Given the description of an element on the screen output the (x, y) to click on. 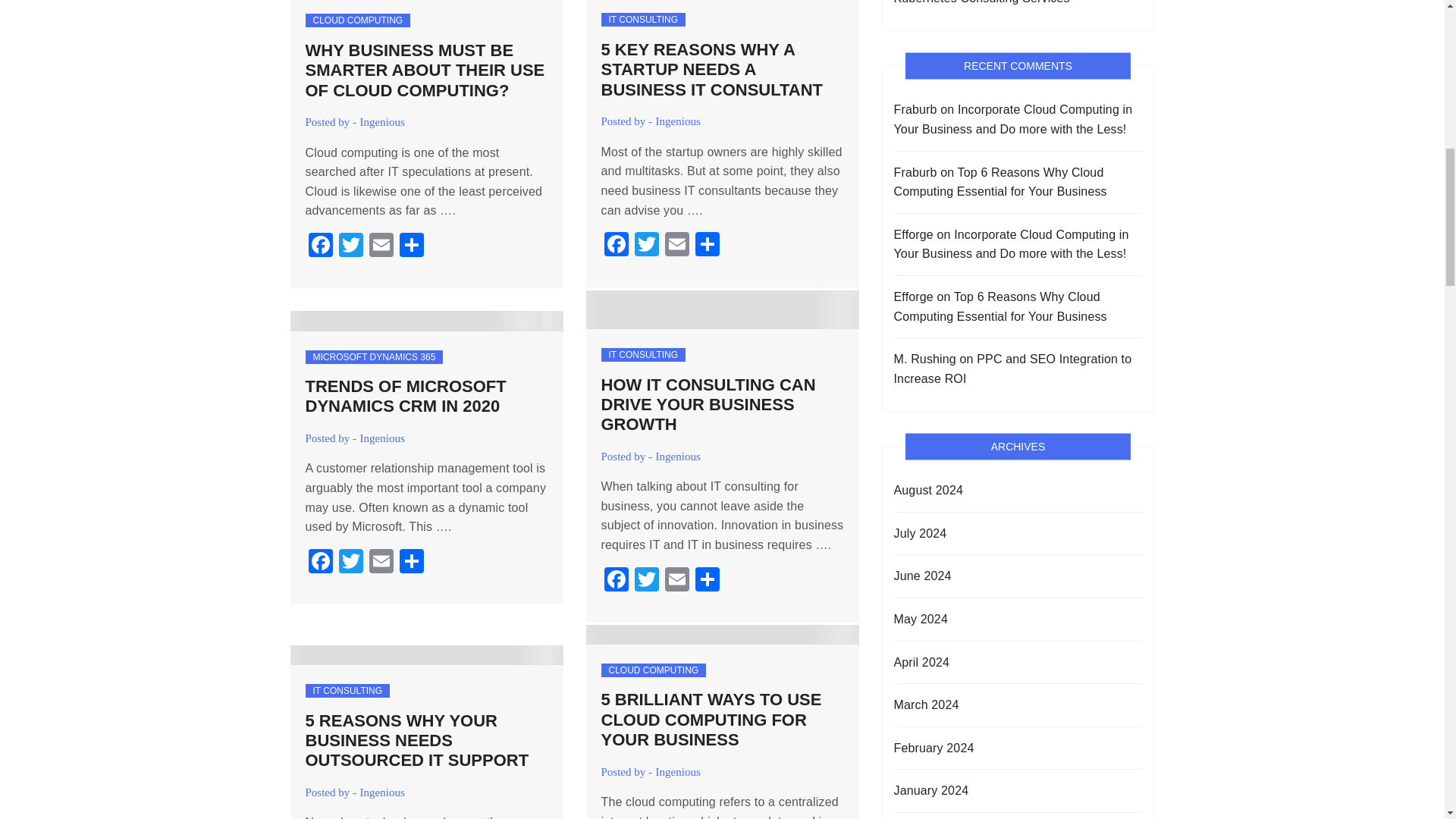
Twitter (349, 246)
Ingenious (678, 121)
Twitter (645, 245)
Facebook (319, 562)
Facebook (319, 246)
Facebook (614, 245)
Twitter (645, 245)
Email (676, 581)
Email (380, 246)
Email (676, 245)
